Given the description of an element on the screen output the (x, y) to click on. 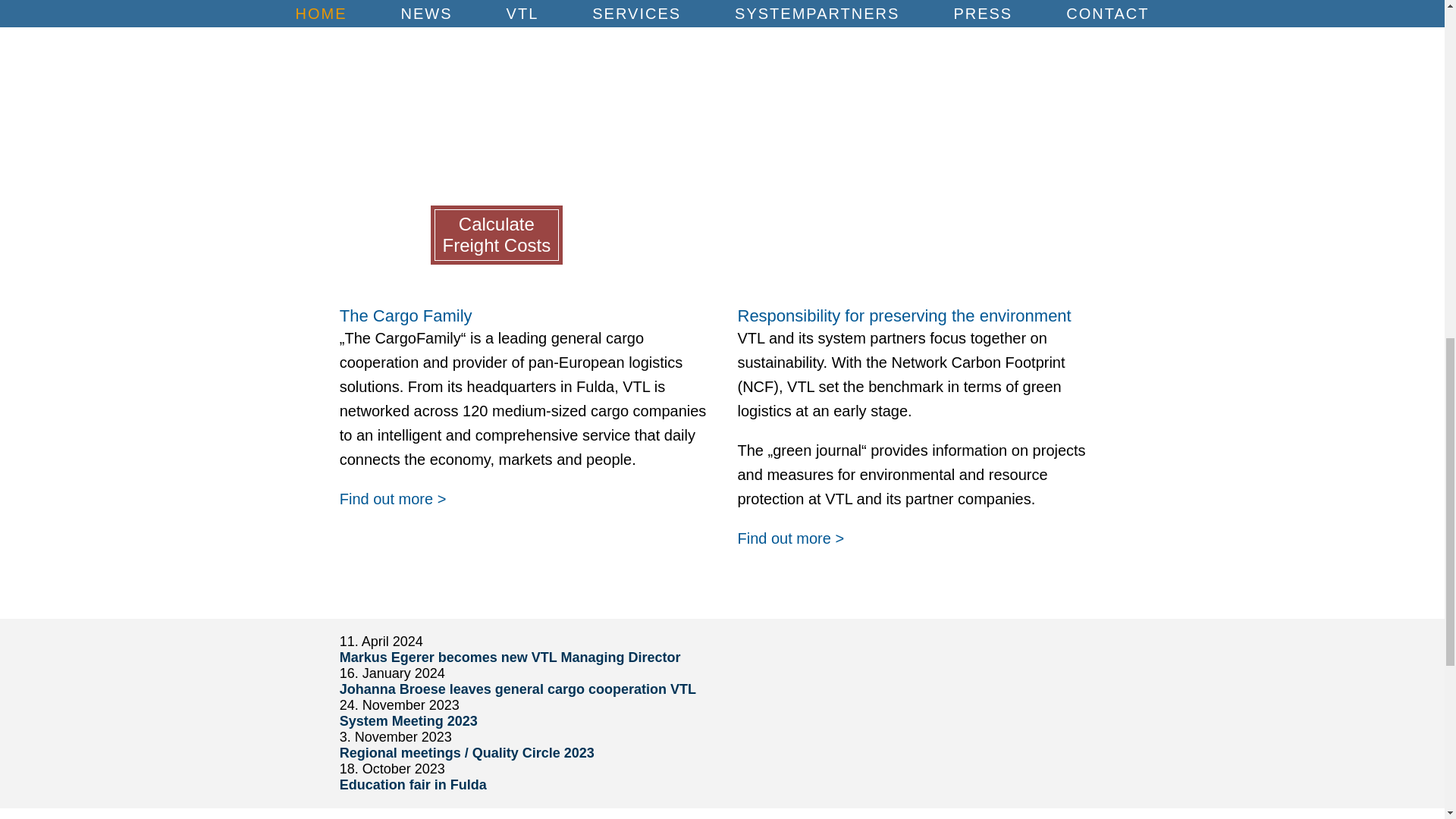
System Meeting 2023 (408, 720)
Education fair in Fulda (412, 784)
Markus Egerer becomes new VTL Managing Director (510, 657)
Johanna Broese leaves general cargo cooperation VTL (517, 688)
